Given the description of an element on the screen output the (x, y) to click on. 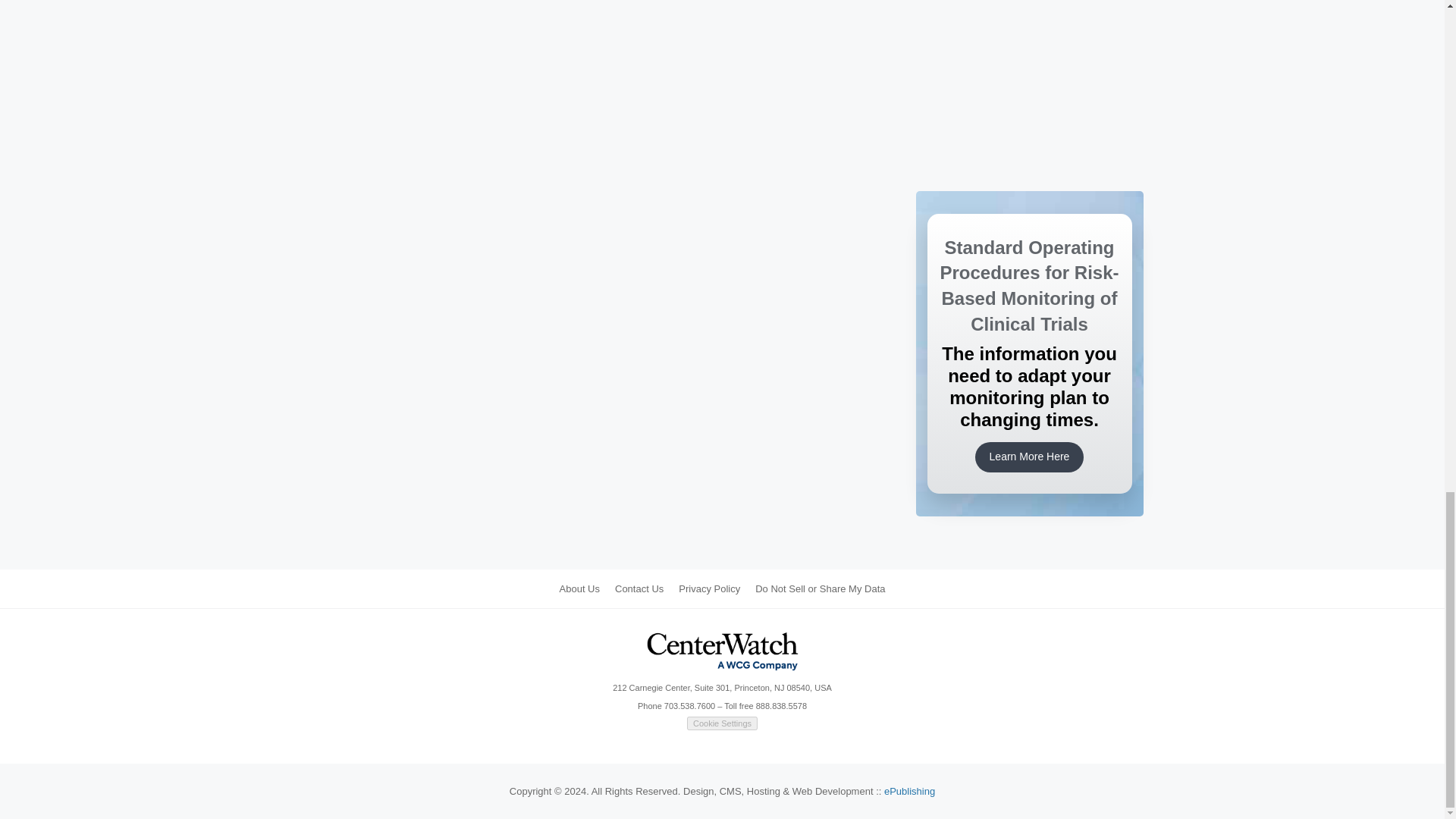
3rd party ad content (1028, 129)
3rd party ad content (1028, 34)
